Given the description of an element on the screen output the (x, y) to click on. 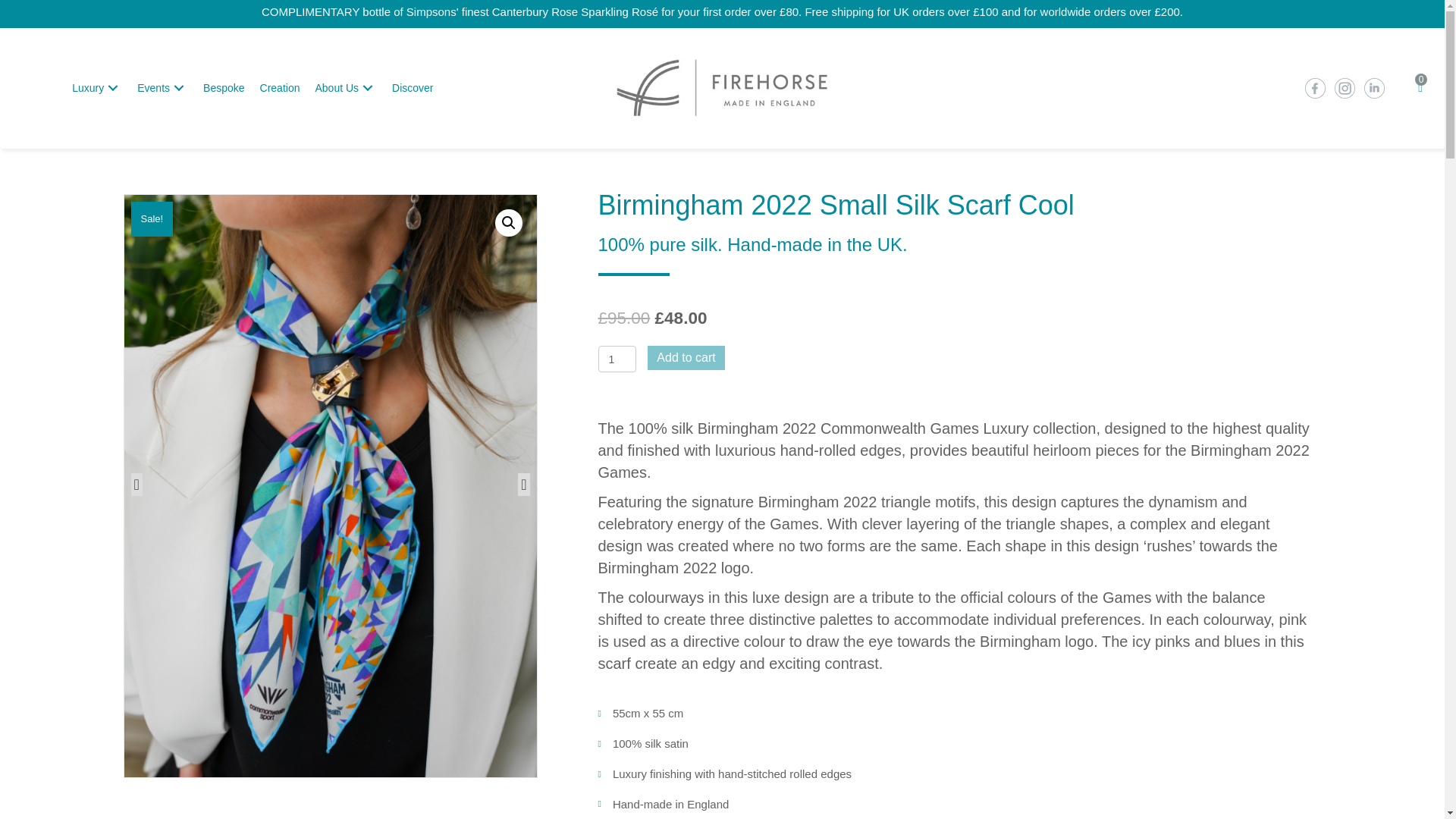
Luxury (96, 87)
instagram (1344, 87)
About Us (345, 87)
Creation (279, 87)
1 (616, 358)
Events (162, 87)
Add to cart (685, 357)
facebook (1313, 87)
Bespoke (223, 87)
Discover (412, 87)
Firehorse-logo (721, 87)
linkedin (1372, 87)
